Given the description of an element on the screen output the (x, y) to click on. 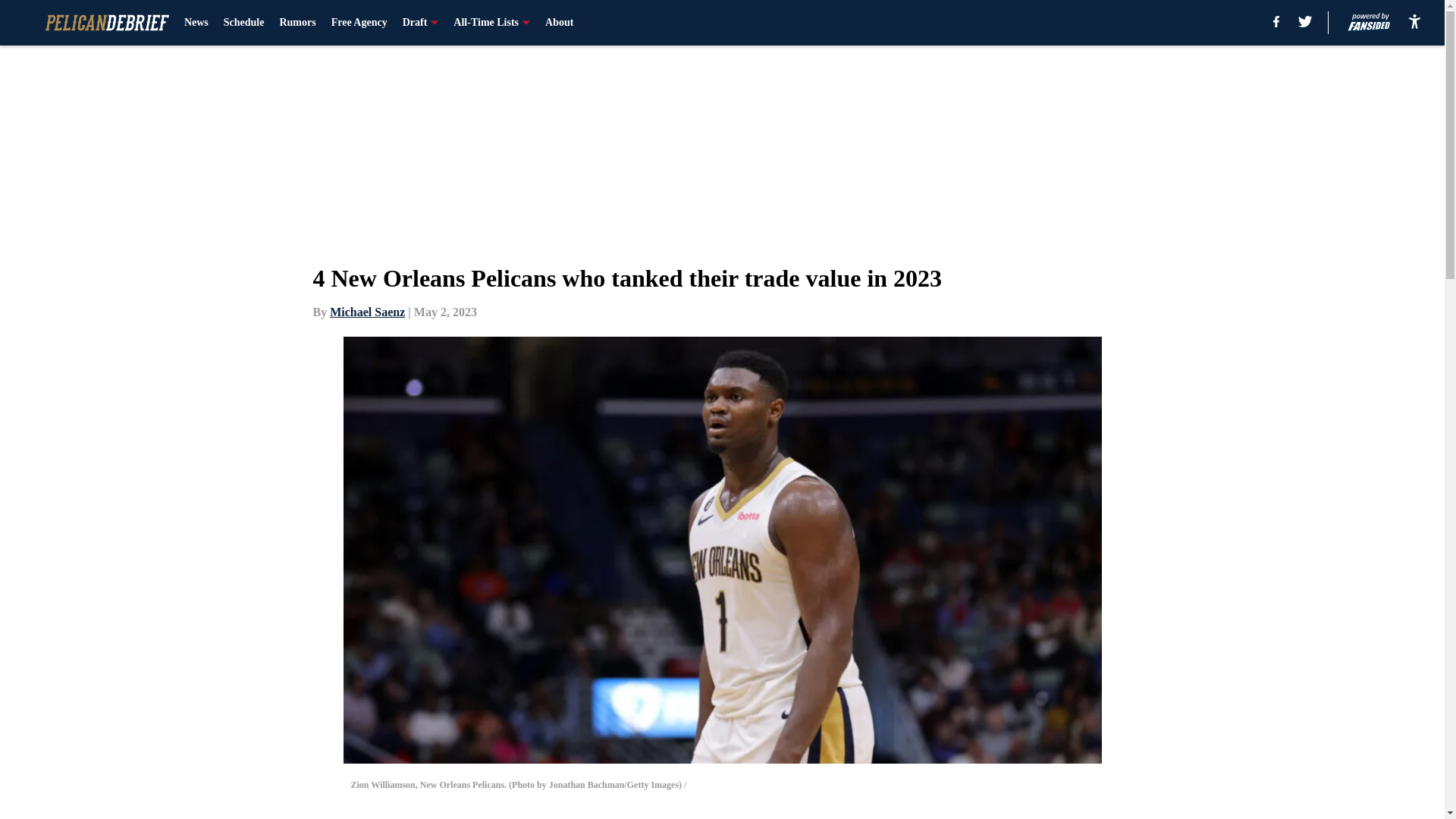
Draft (421, 22)
Michael Saenz (367, 311)
All-Time Lists (490, 22)
Free Agency (359, 22)
About (558, 22)
Schedule (244, 22)
Rumors (297, 22)
News (196, 22)
